Given the description of an element on the screen output the (x, y) to click on. 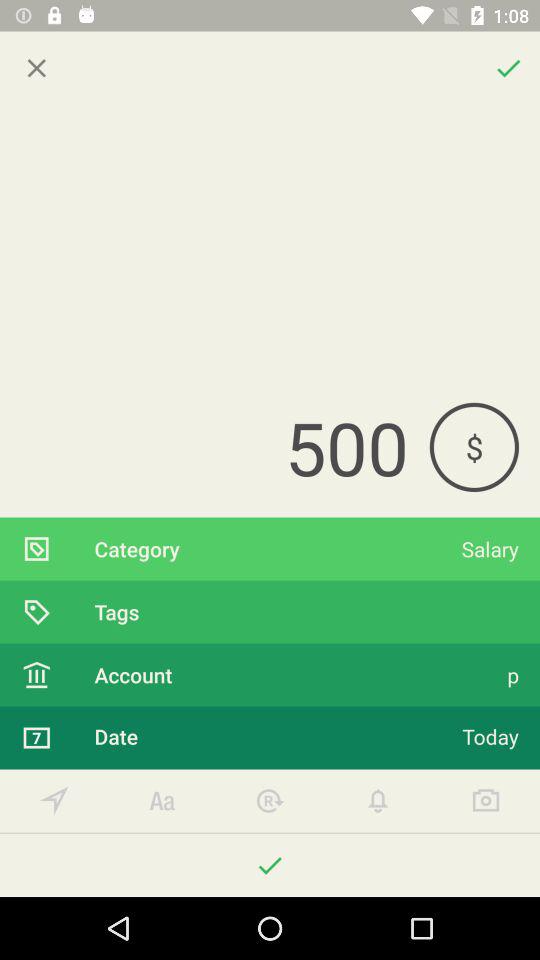
take screenshot (486, 800)
